Given the description of an element on the screen output the (x, y) to click on. 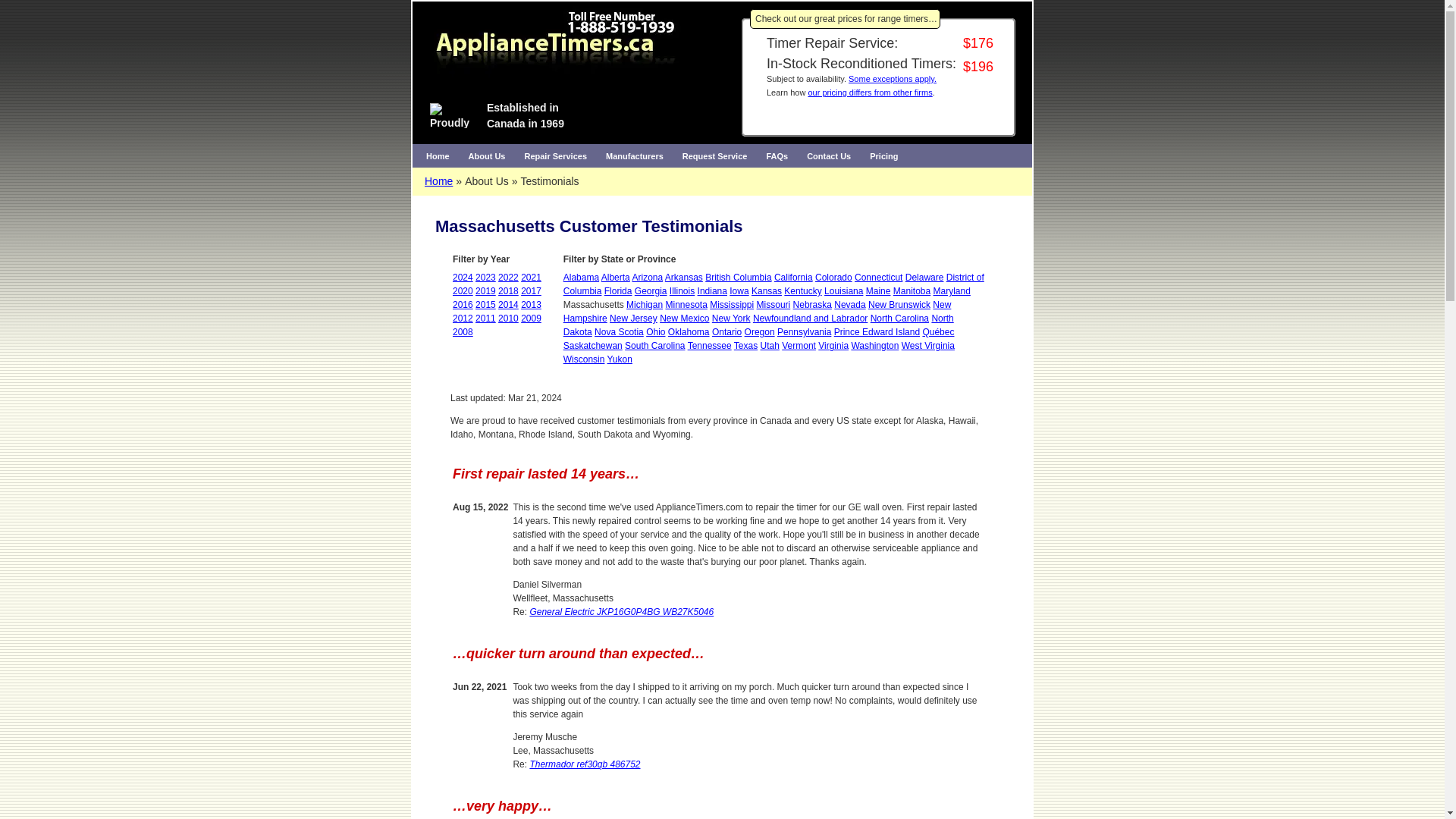
2015 (486, 304)
2017 (531, 290)
Home (437, 156)
2014 (507, 304)
2022 (507, 276)
2018 (507, 290)
Repair Services (555, 156)
Return to the ApplianceTimers.ca Home page (437, 156)
2019 (486, 290)
About Us (487, 156)
Pricing (883, 156)
2016 (462, 304)
Request Service (714, 156)
Manufacturers (634, 156)
Review special pricing (892, 78)
